Given the description of an element on the screen output the (x, y) to click on. 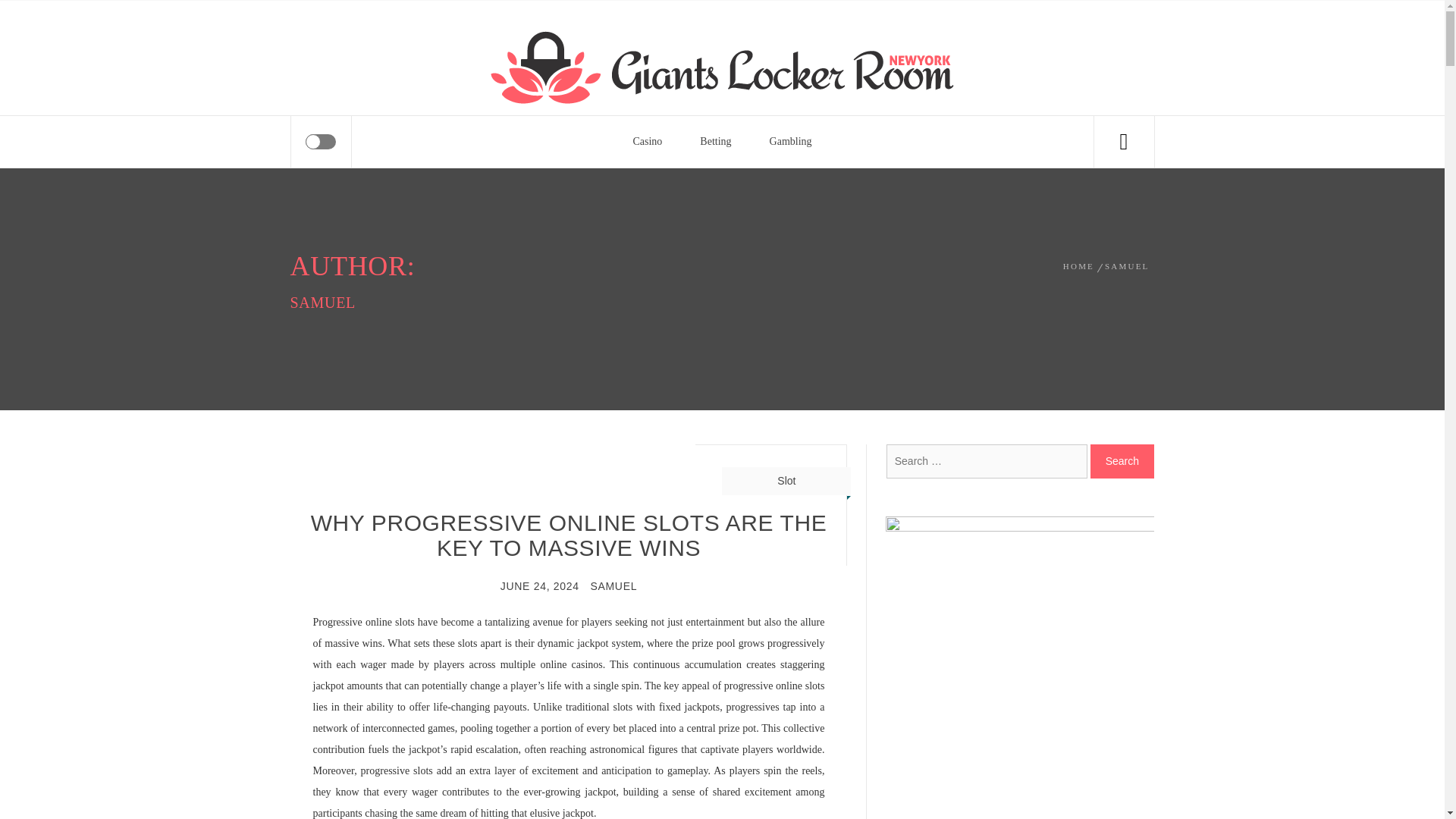
Search (1122, 461)
Search (797, 41)
Search (1122, 461)
HOME (1080, 266)
JUNE 24, 2024 (539, 585)
Betting (715, 141)
Slot (785, 480)
SAMUEL (1126, 266)
Casino (646, 141)
Gambling (791, 141)
Newyork Giants Locker Room (631, 51)
SAMUEL (613, 585)
WHY PROGRESSIVE ONLINE SLOTS ARE THE KEY TO MASSIVE WINS (569, 535)
